Given the description of an element on the screen output the (x, y) to click on. 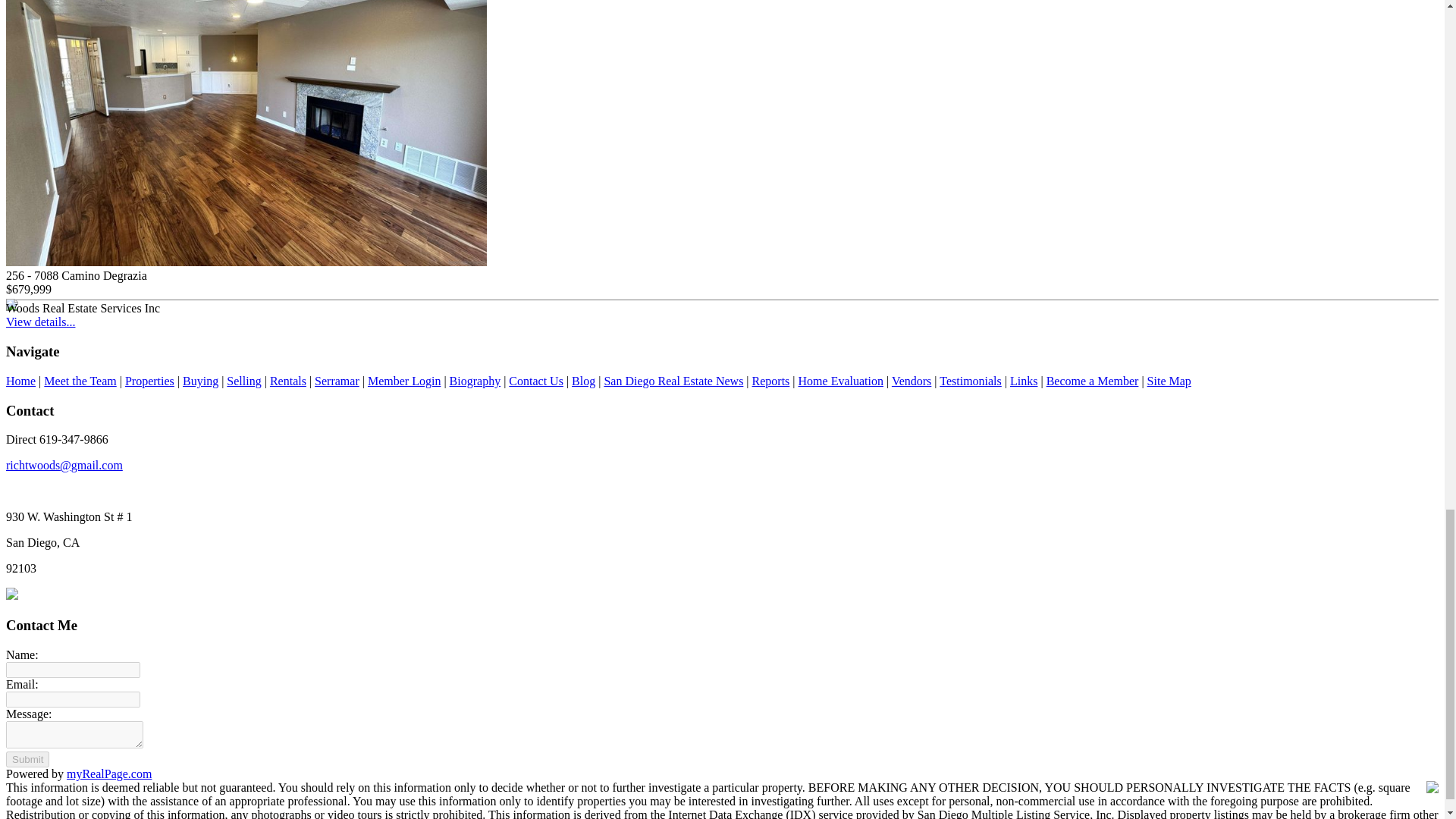
Site Map (1169, 380)
Meet the Team (79, 380)
Blog (583, 380)
Selling (243, 380)
Member Login (404, 380)
Become a Member (1092, 380)
Testimonials (970, 380)
Home (19, 380)
View details... (40, 321)
Selling (243, 380)
Contact Us (535, 380)
Buying (200, 380)
Properties (149, 380)
Home Evaluation (840, 380)
Rentals (287, 380)
